Given the description of an element on the screen output the (x, y) to click on. 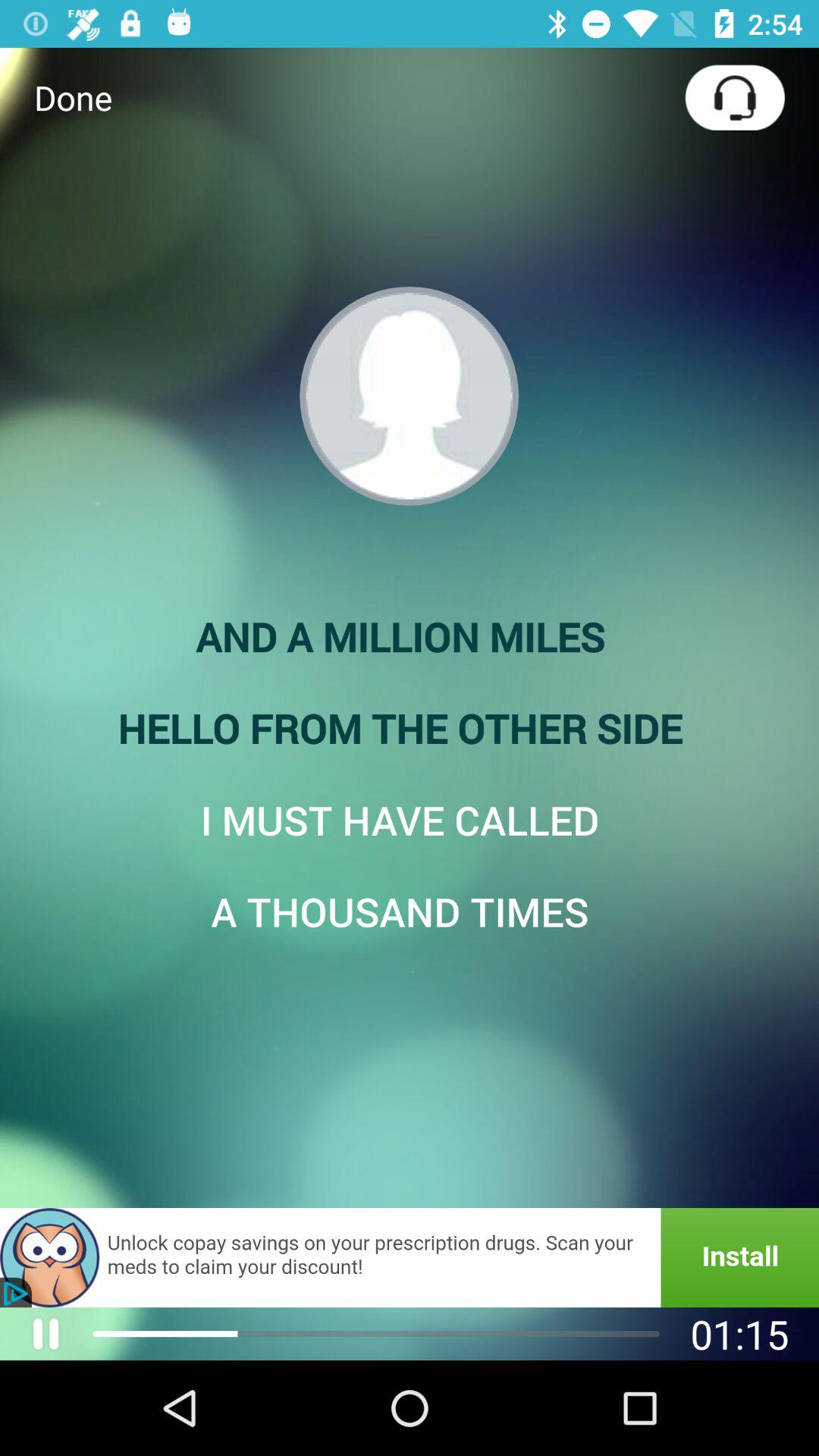
tap icon at the top right corner (734, 97)
